Given the description of an element on the screen output the (x, y) to click on. 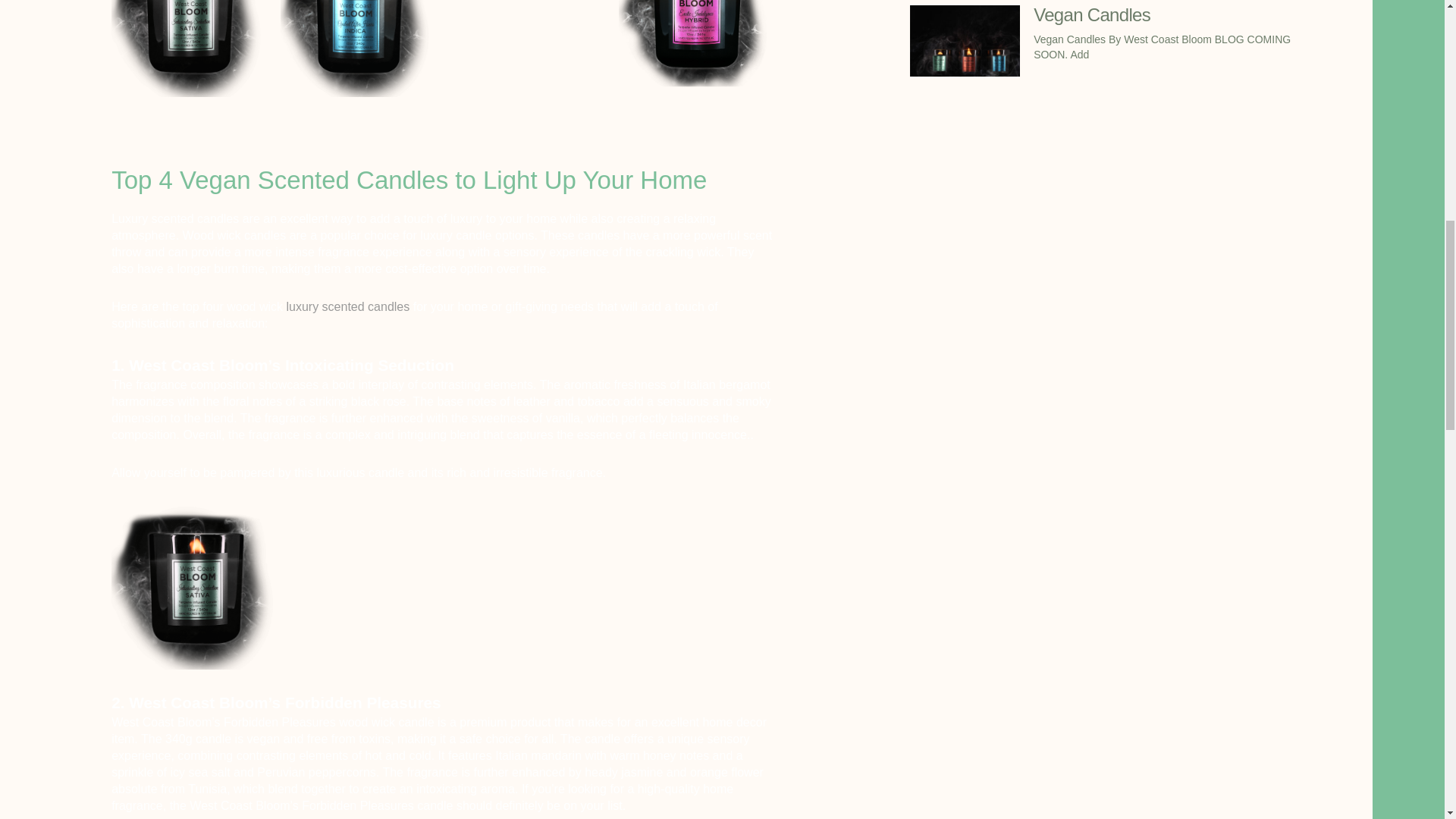
luxury scented candles (347, 306)
Vegan Candles (1091, 14)
